Given the description of an element on the screen output the (x, y) to click on. 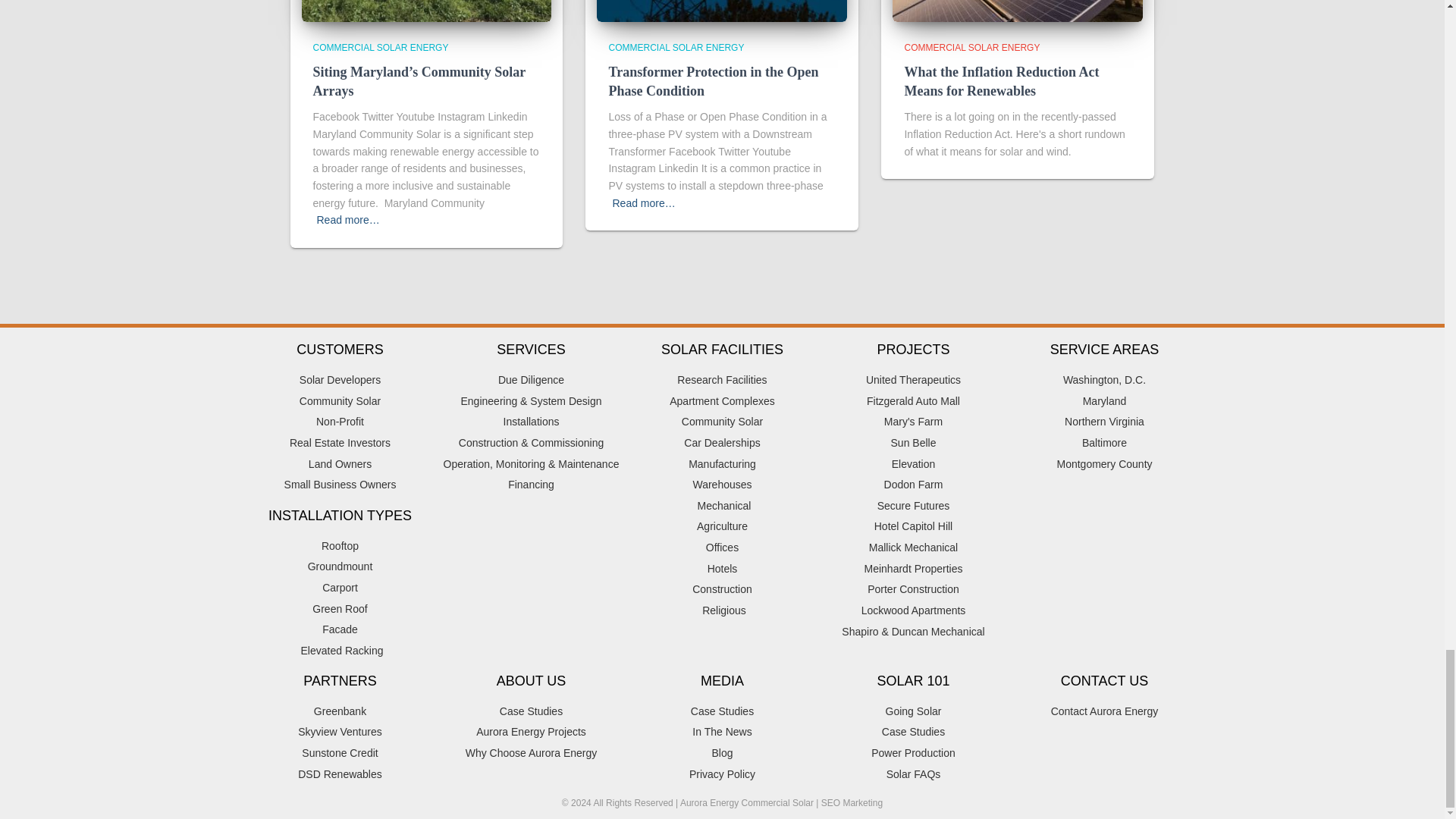
View all posts in Commercial Solar Energy (380, 47)
View all posts in Commercial Solar Energy (971, 47)
What the Inflation Reduction Act Means for Renewables (1001, 81)
View all posts in Commercial Solar Energy (676, 47)
Transformer Protection in the Open Phase Condition (713, 81)
SEO Marketing and Management (851, 802)
